Given the description of an element on the screen output the (x, y) to click on. 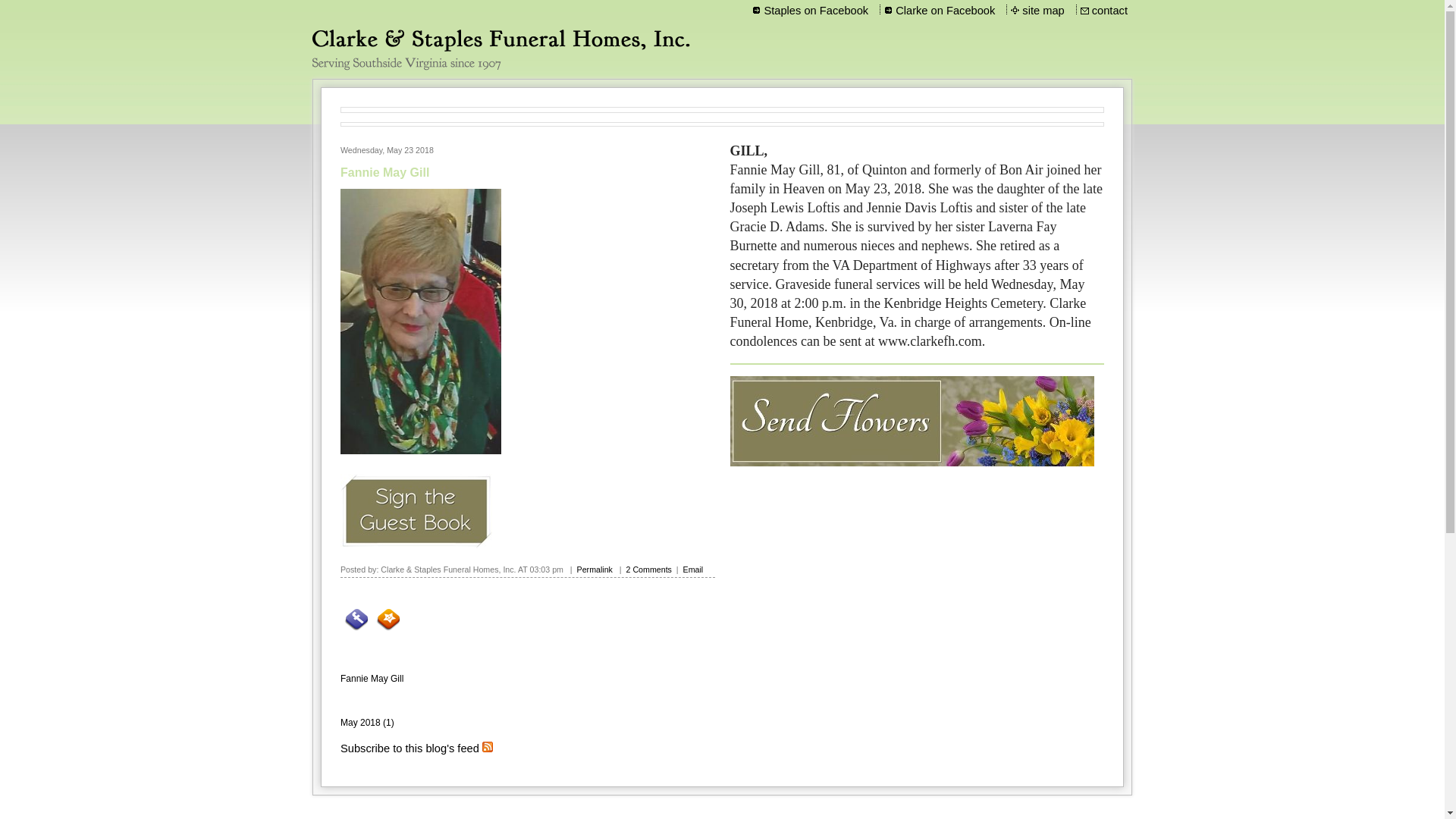
Clarke on Facebook (945, 10)
Staples on Facebook (815, 10)
Fannie May Gill (371, 678)
site map (1043, 10)
contact (1110, 10)
Fannie May Gill (384, 172)
Email (692, 569)
Permalink (594, 569)
2 Comments (648, 569)
Subscribe to this blog's feed (409, 748)
